Given the description of an element on the screen output the (x, y) to click on. 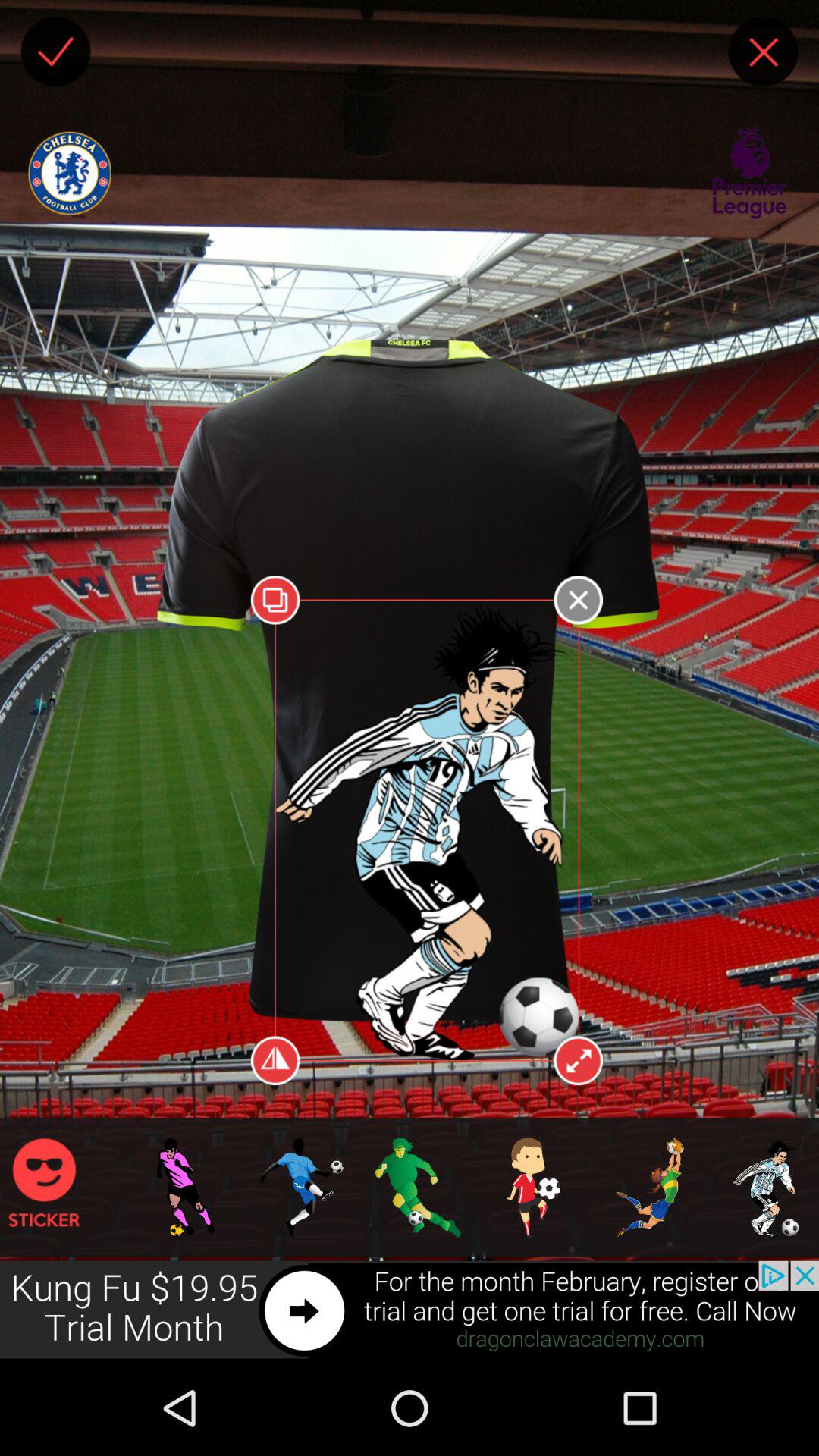
go to advertisement (409, 1310)
